Given the description of an element on the screen output the (x, y) to click on. 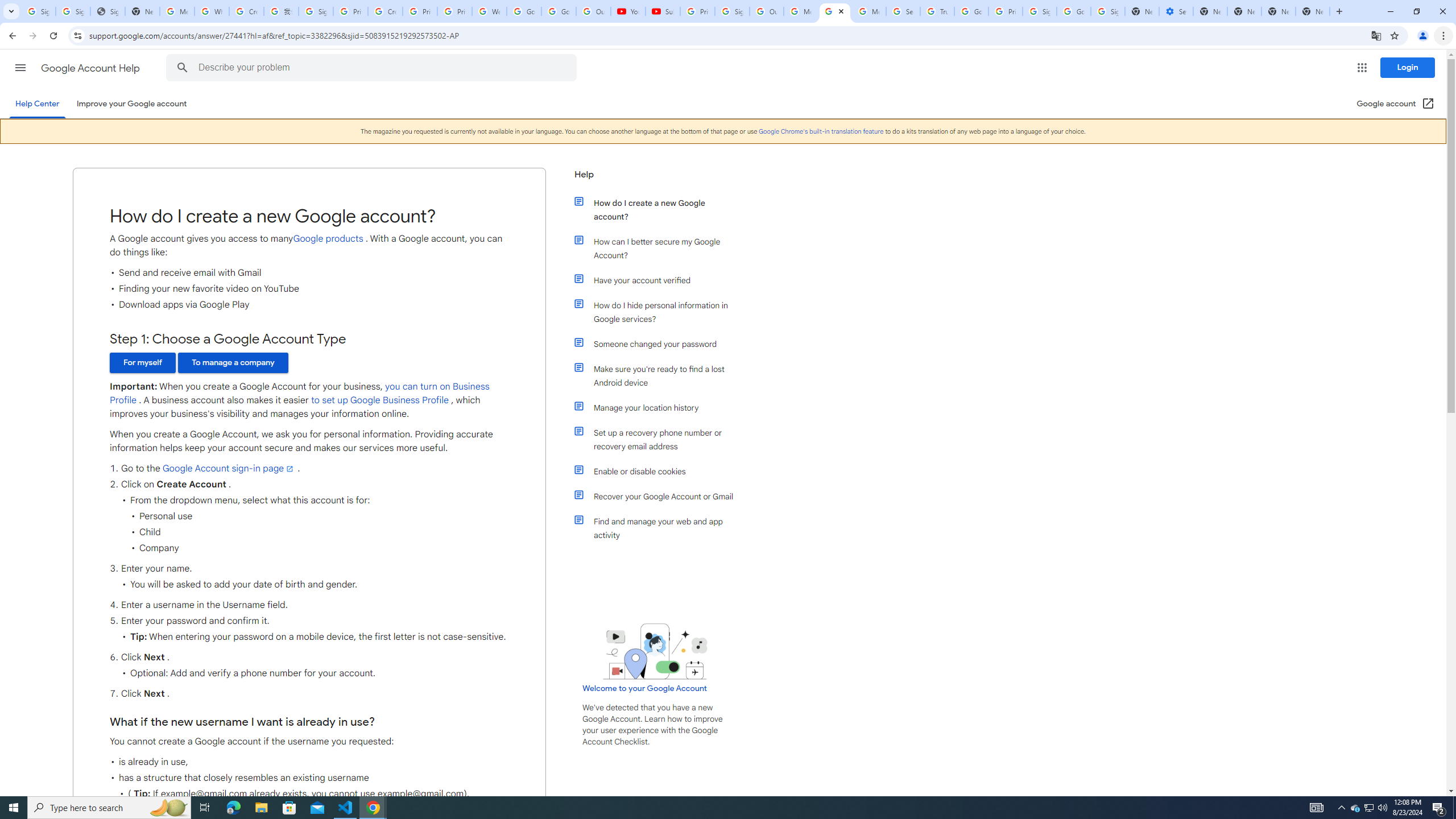
Help (656, 178)
How do I create a new Google account? (661, 209)
to set up Google Business Profile (379, 400)
Google apps (1362, 67)
Sign in - Google Accounts (38, 11)
Sign In - USA TODAY (107, 11)
Google Account sign-in page (228, 468)
